Given the description of an element on the screen output the (x, y) to click on. 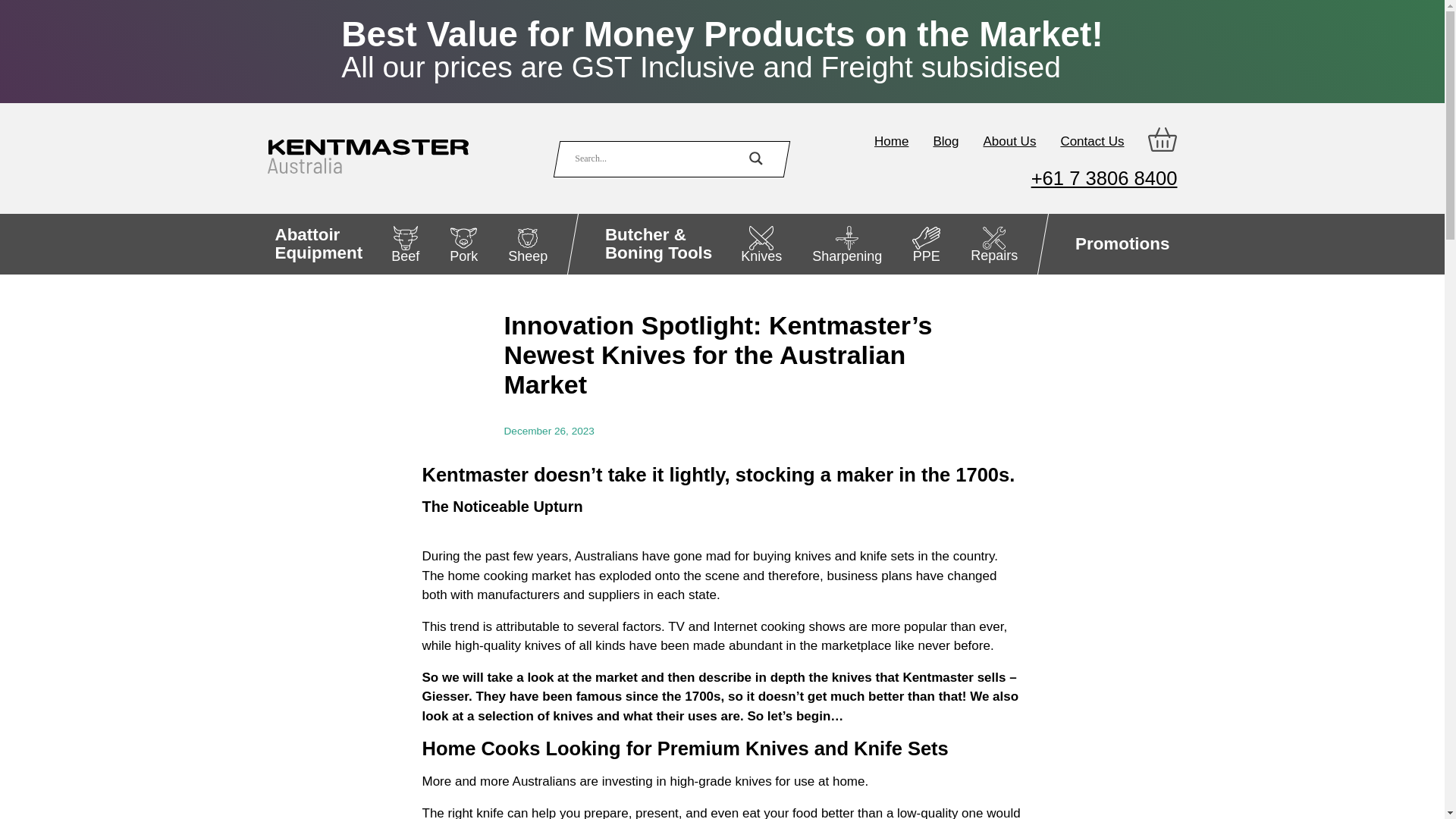
Repairs (993, 243)
Sharpening (847, 243)
Gift Ideas for Butcher (1121, 243)
Call Us (1103, 178)
Knives (761, 243)
Sharpening tools (847, 243)
Abattoir Equipment (317, 243)
About Us (317, 243)
Promotions (1008, 141)
Sheep (1121, 243)
Butcher knives (527, 243)
Home (761, 243)
Repairs (891, 141)
Contact Us (993, 243)
